Given the description of an element on the screen output the (x, y) to click on. 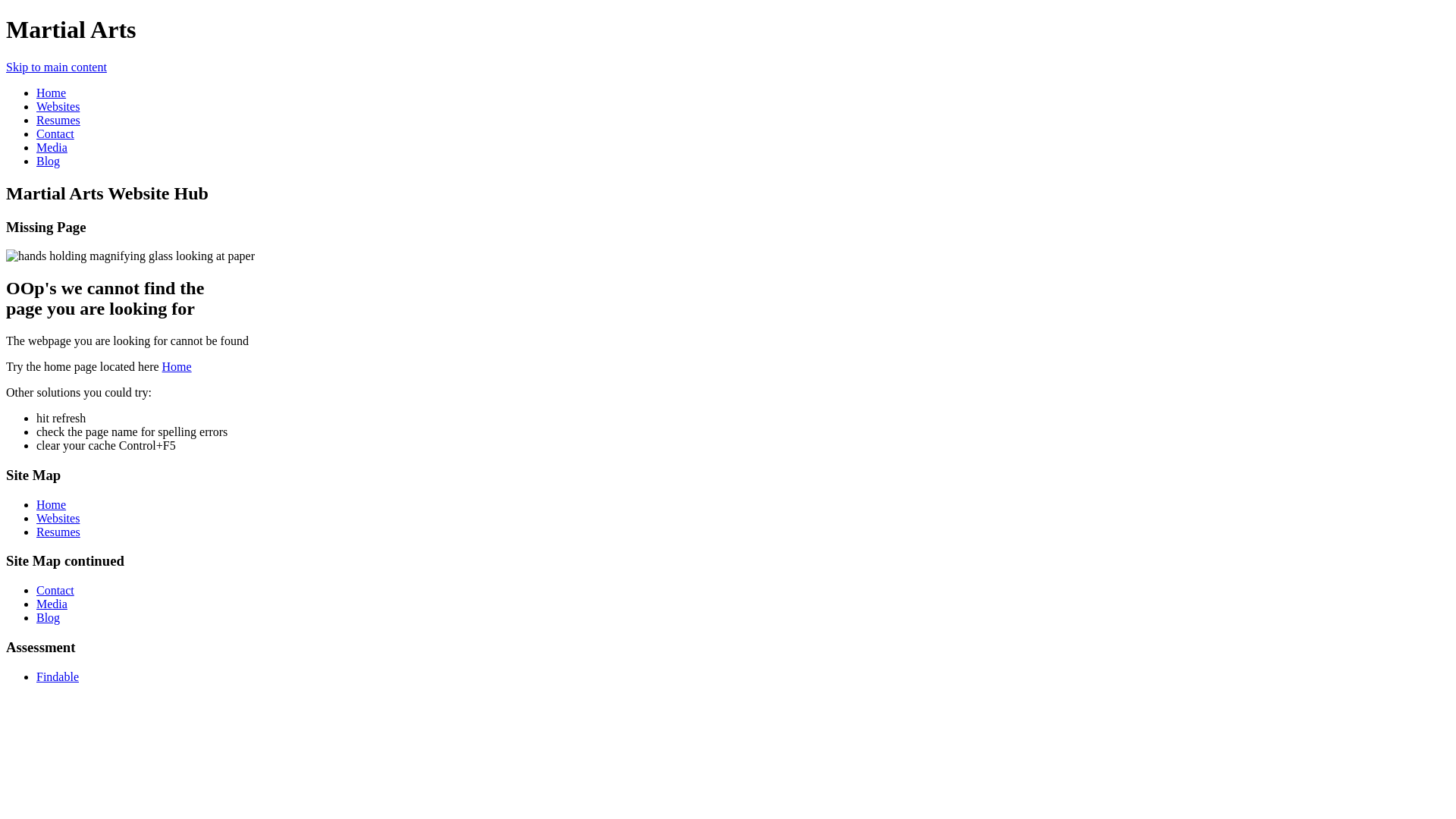
Findable Element type: text (57, 676)
Contact Element type: text (55, 589)
Contact Element type: text (55, 133)
Websites Element type: text (57, 106)
Blog Element type: text (47, 617)
Blog Element type: text (47, 160)
Media Element type: text (51, 603)
Media Element type: text (51, 147)
Resumes Element type: text (58, 531)
Home Element type: text (176, 366)
Websites Element type: text (57, 517)
Resumes Element type: text (58, 119)
Home Element type: text (50, 504)
Home Element type: text (50, 92)
Skip to main content Element type: text (56, 66)
